Given the description of an element on the screen output the (x, y) to click on. 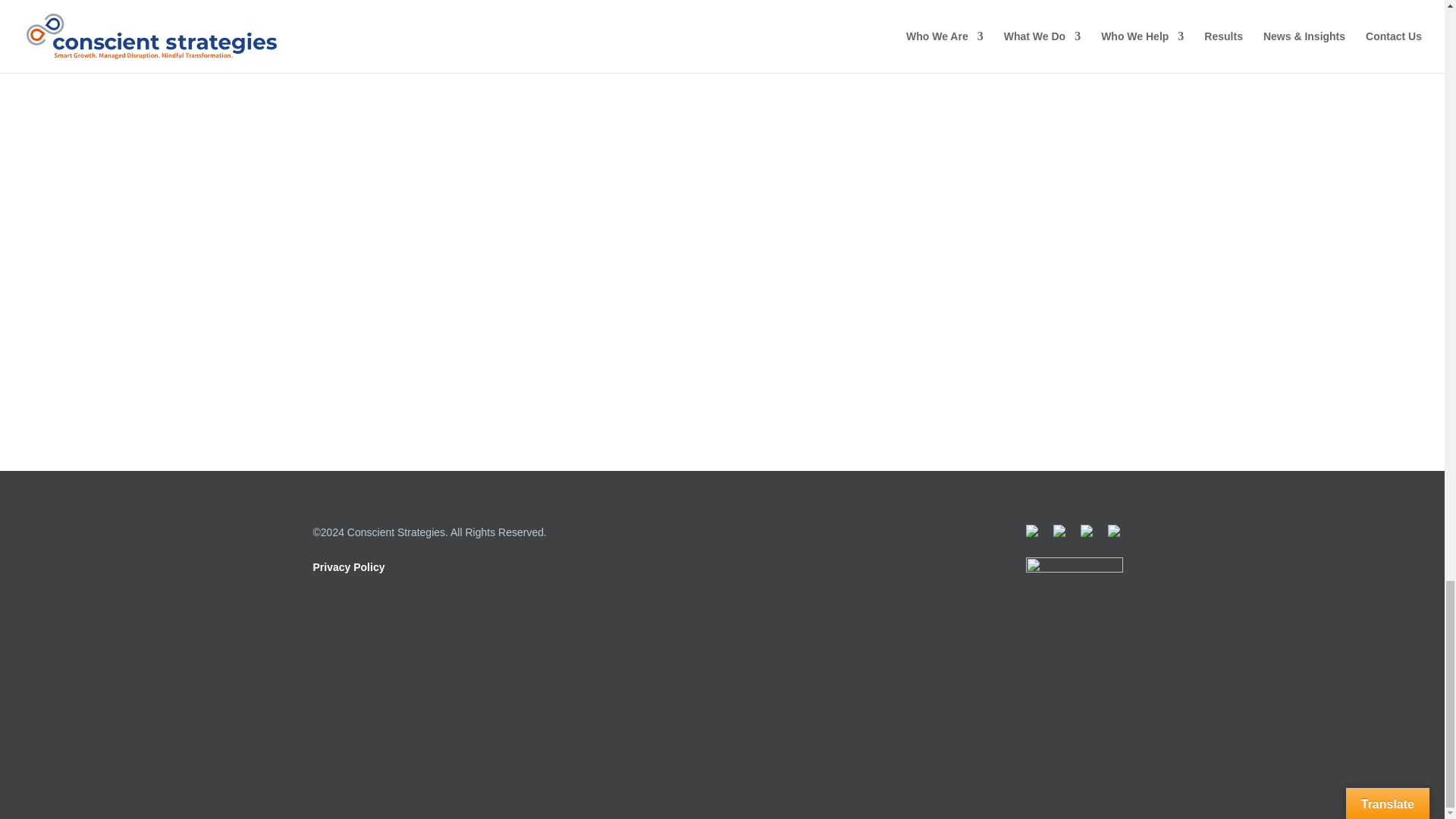
Privacy Policy (348, 567)
